Given the description of an element on the screen output the (x, y) to click on. 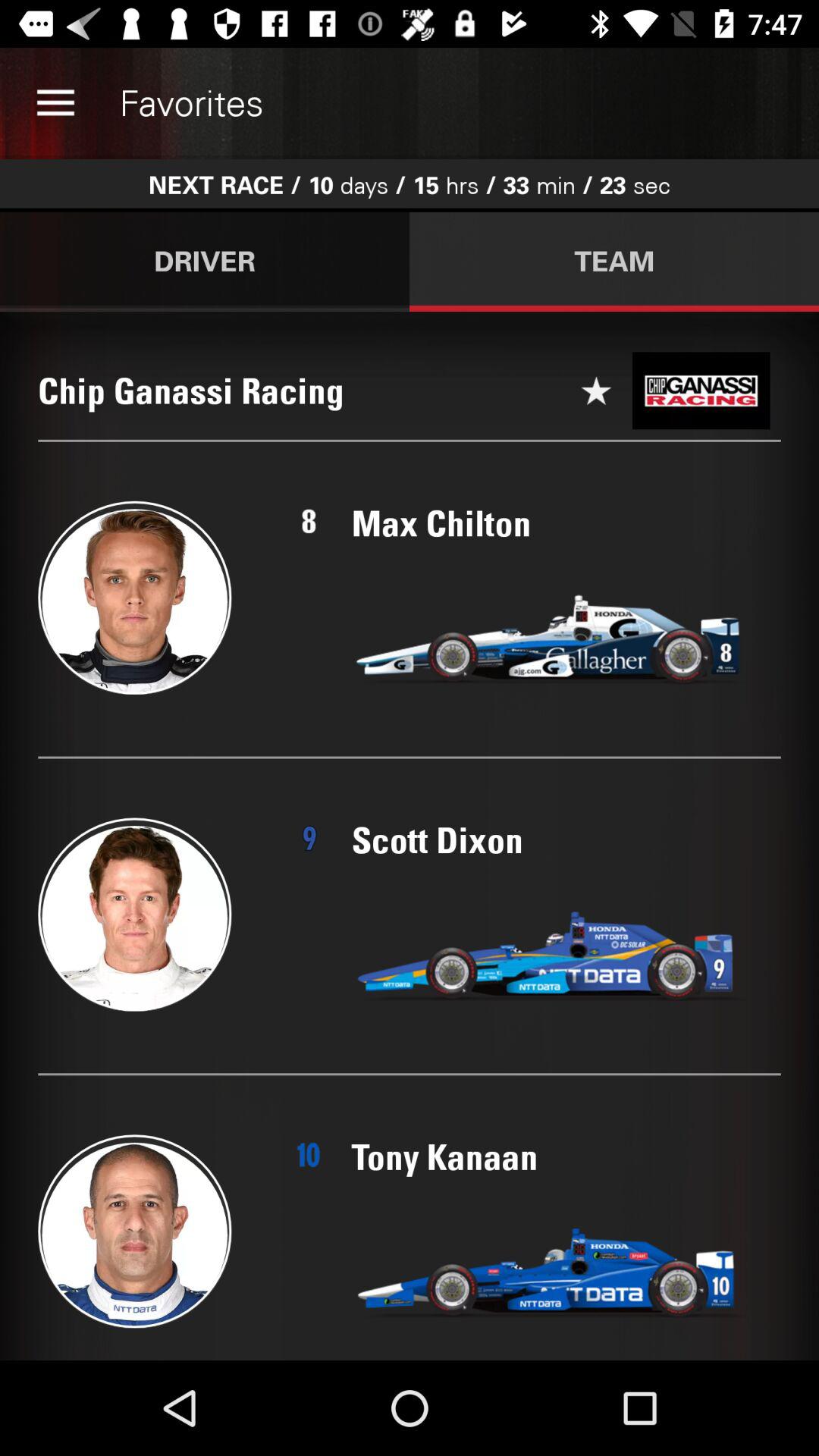
press the item above driver icon (55, 103)
